Given the description of an element on the screen output the (x, y) to click on. 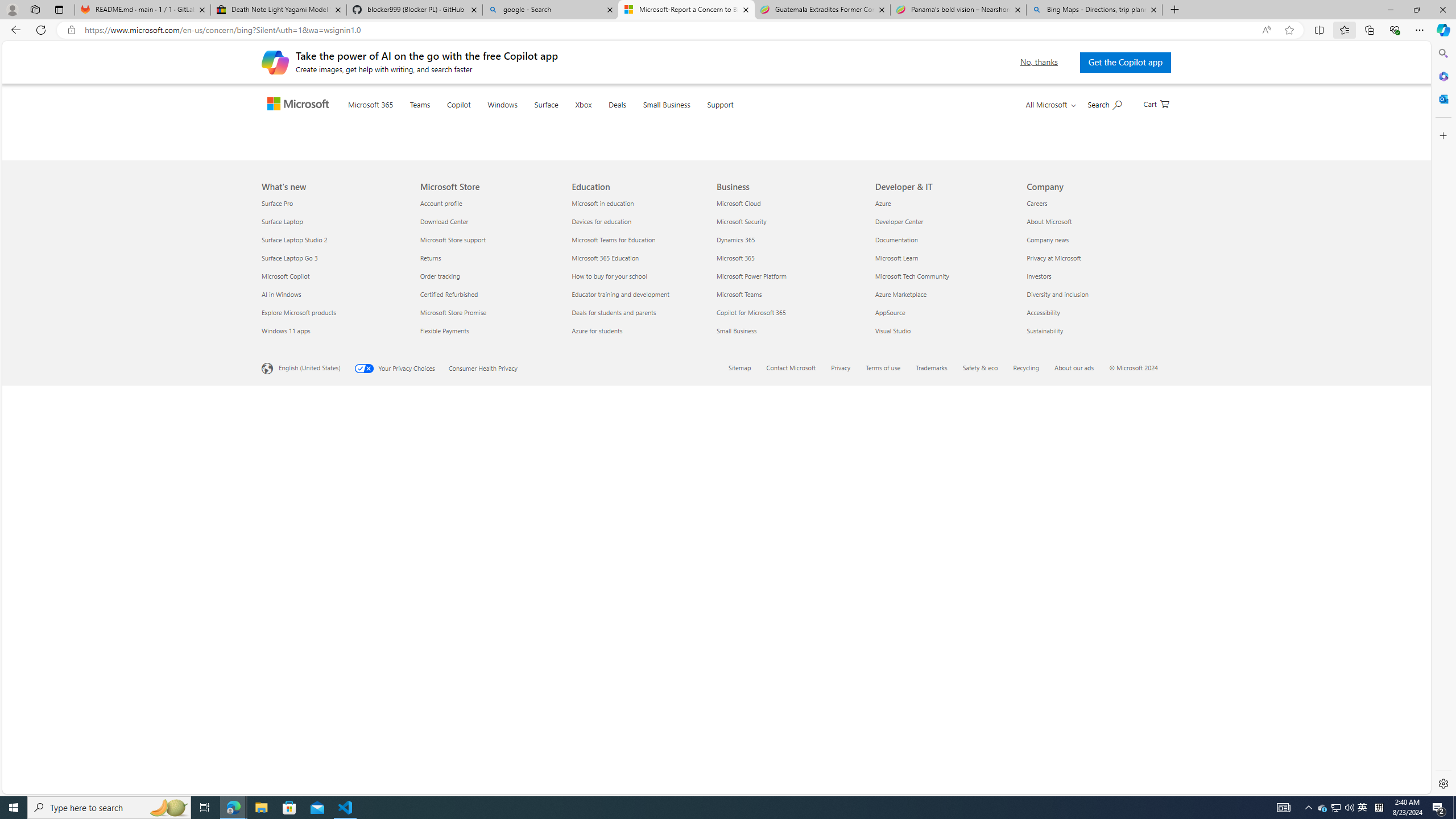
About our ads (1081, 768)
Microsoft Cloud Business (738, 602)
Recycling (1026, 767)
Small Business Business (736, 730)
Documentation Developer & IT (896, 639)
Microsoft Learn Developer & IT (896, 657)
Flexible Payments (489, 730)
Azure for students (641, 730)
Dynamics 365 (788, 639)
Returns (489, 657)
Windows 11 apps (334, 730)
Microsoft 365 Education Education (605, 657)
